Given the description of an element on the screen output the (x, y) to click on. 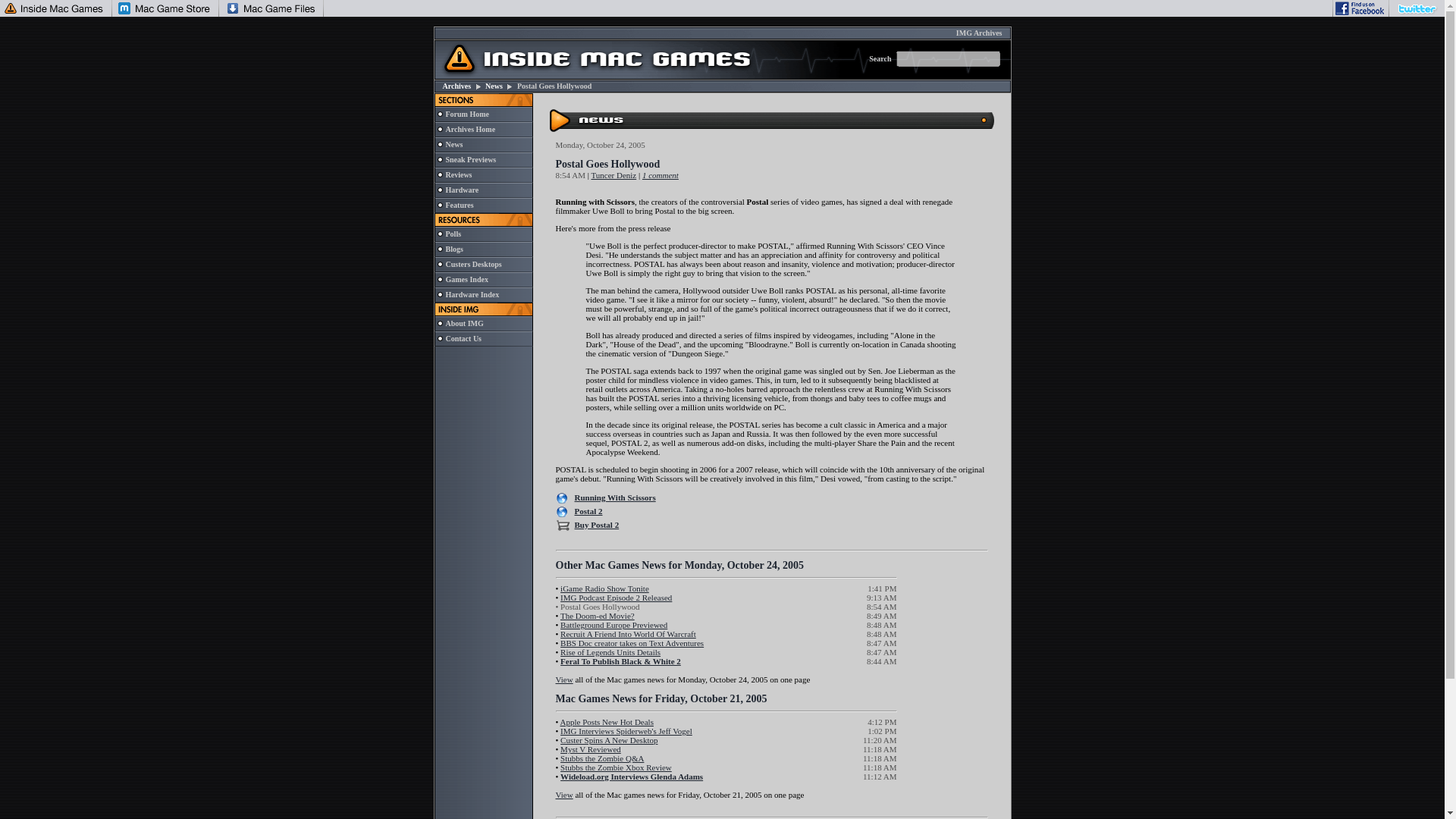
News (493, 85)
The Doom-ed Movie? (597, 614)
Games Index (466, 279)
BBS Doc creator takes on Text Adventures (631, 642)
Battleground Europe Previewed (613, 624)
View (563, 678)
Custers Desktops (473, 264)
Reviews (458, 174)
Archives (456, 85)
1 comment (660, 174)
IMG Interviews Spiderweb's Jeff Vogel (626, 730)
Apple Posts New Hot Deals (605, 721)
Forum Home (467, 113)
Hardware Index (472, 294)
iGame Radio Show Tonite (604, 587)
